Given the description of an element on the screen output the (x, y) to click on. 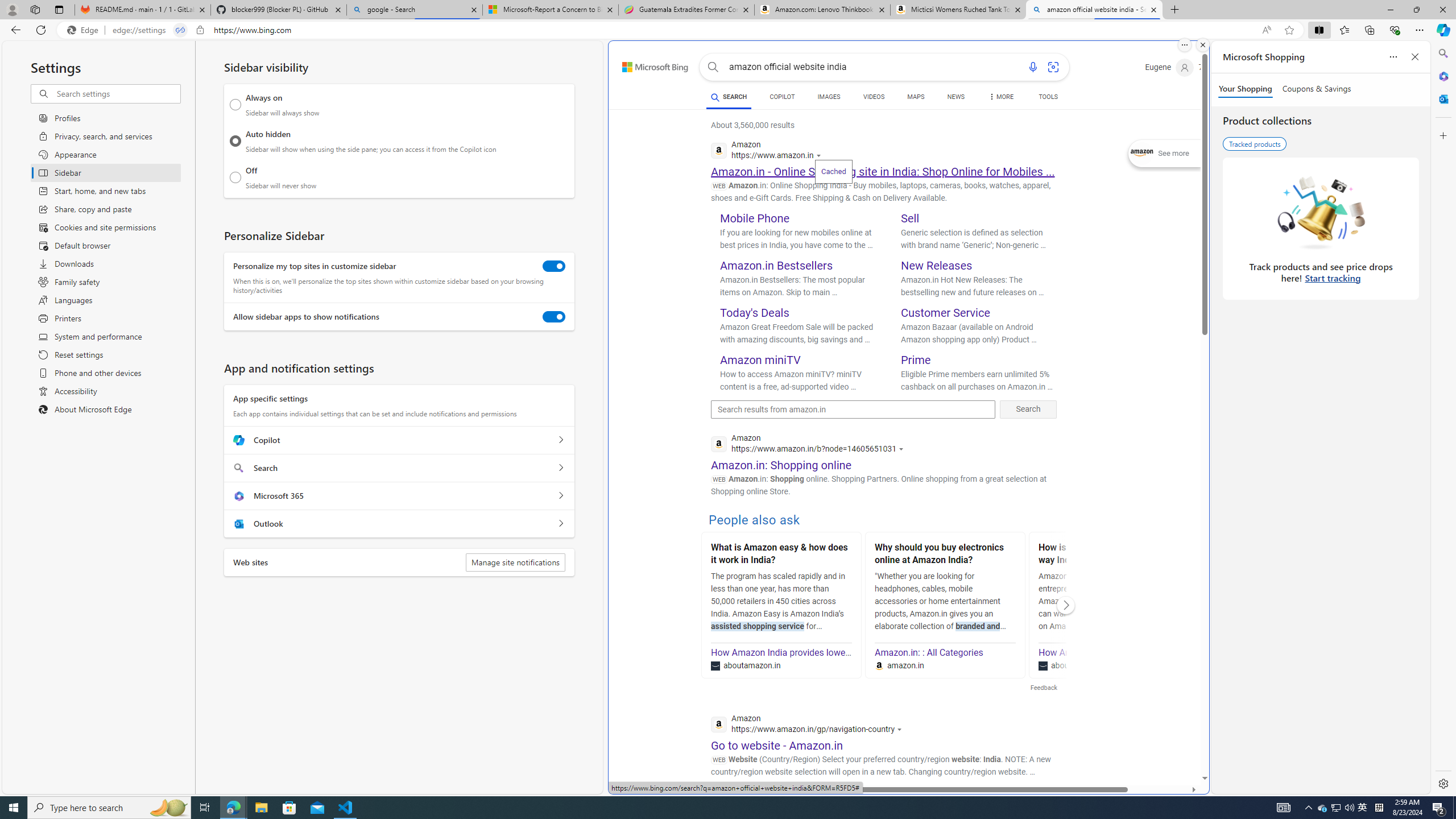
Side bar (1443, 418)
Search results from amazon.in (852, 409)
Amazon miniTV (760, 359)
google - Search (414, 9)
Microsoft-Report a Concern to Bing (550, 9)
Eugene (1168, 67)
Restore (1416, 9)
SEARCH (728, 96)
Address and search bar (683, 29)
Copilot (Ctrl+Shift+.) (1442, 29)
Global web icon (718, 724)
Today's Deals (754, 312)
